Given the description of an element on the screen output the (x, y) to click on. 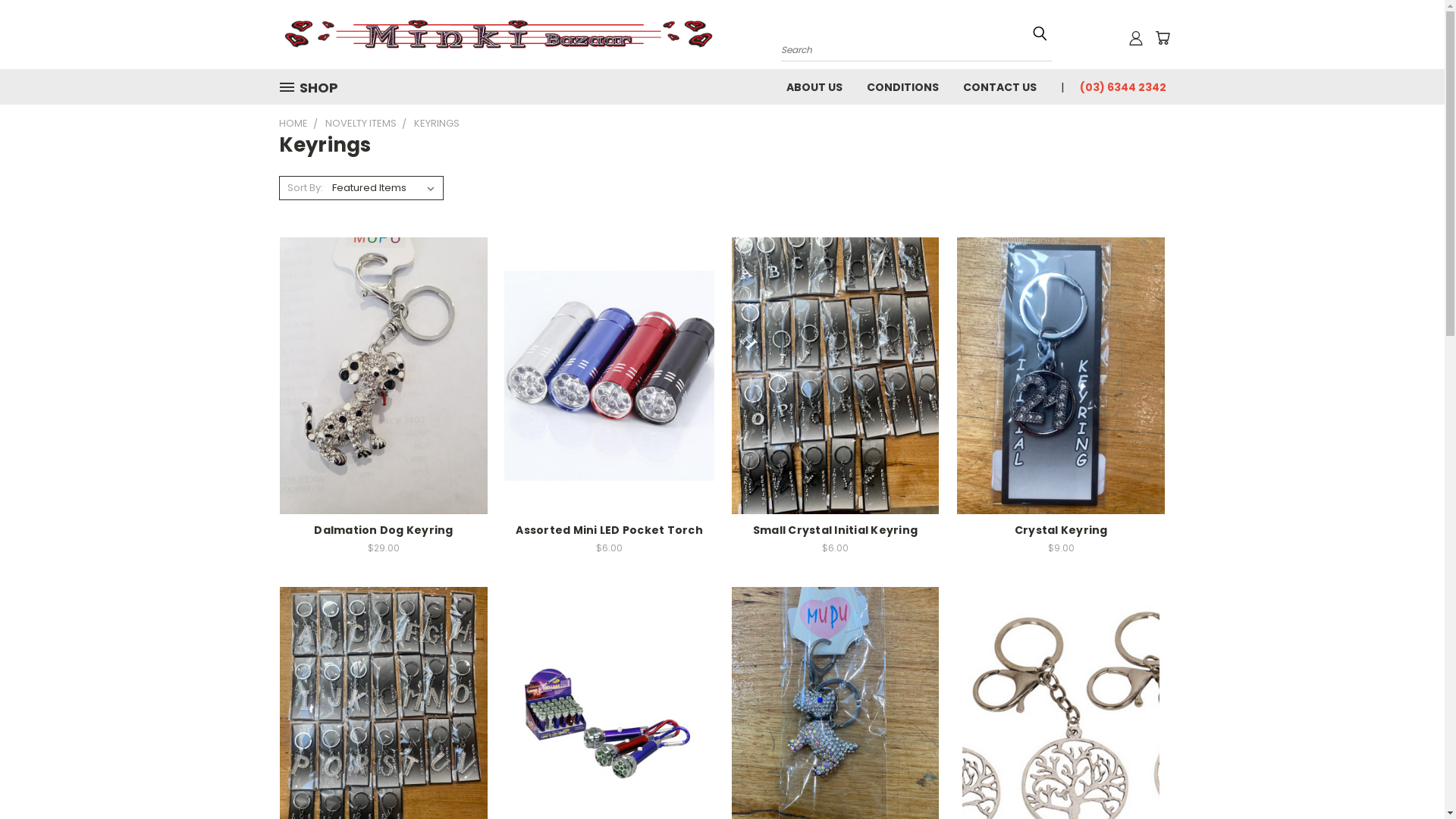
NOVELTY ITEMS Element type: text (359, 122)
Minki Bazaar Element type: hover (498, 34)
Small Crystal Initial Keyring Element type: text (835, 529)
Dalmation Dog Keyring Element type: hover (384, 375)
Assorted Mini LED Pocket Torch Element type: hover (609, 375)
Crystal Keyring Element type: hover (1061, 375)
Crystal Keyring Element type: text (1060, 529)
User Toolbox Element type: hover (1135, 37)
Assorted Mini LED Pocket Torch Element type: text (608, 529)
CONDITIONS Element type: text (901, 85)
Dalmation Dog Keyring Element type: text (382, 529)
ABOUT US Element type: text (813, 85)
HOME Element type: text (293, 122)
SHOP Element type: text (314, 87)
CONTACT US Element type: text (999, 85)
2 Function Keyring Flashlight Element type: hover (609, 724)
(03) 6344 2342 Element type: text (1116, 85)
Submit Search Element type: hover (1039, 32)
Cart Element type: hover (1161, 37)
Small Crystal Initial Keyring Element type: hover (835, 375)
